Given the description of an element on the screen output the (x, y) to click on. 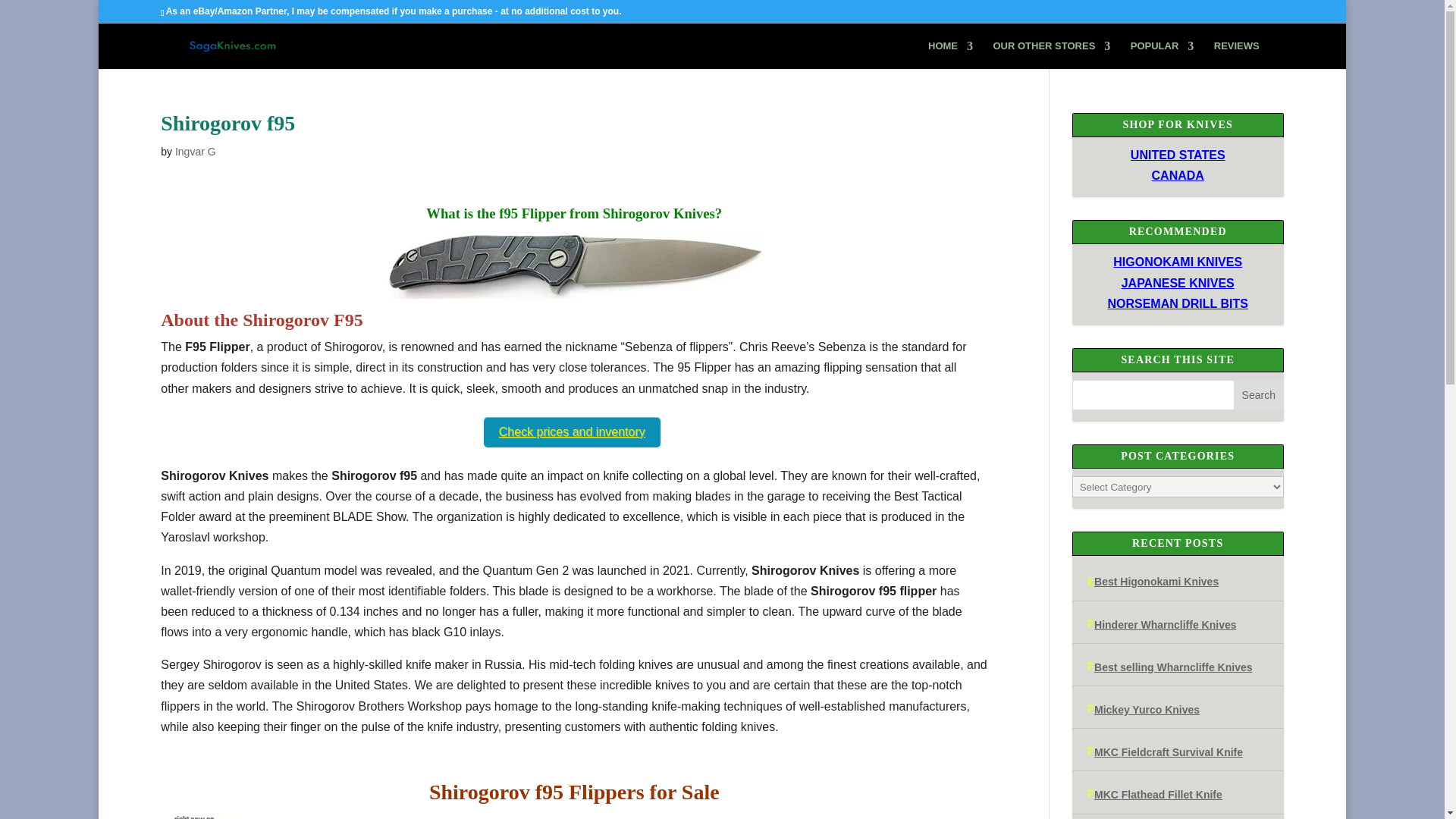
Search (1258, 395)
HOME (950, 54)
REVIEWS (1236, 54)
OUR OTHER STORES (1050, 54)
Posts by Ingvar G (194, 151)
POPULAR (1162, 54)
